Given the description of an element on the screen output the (x, y) to click on. 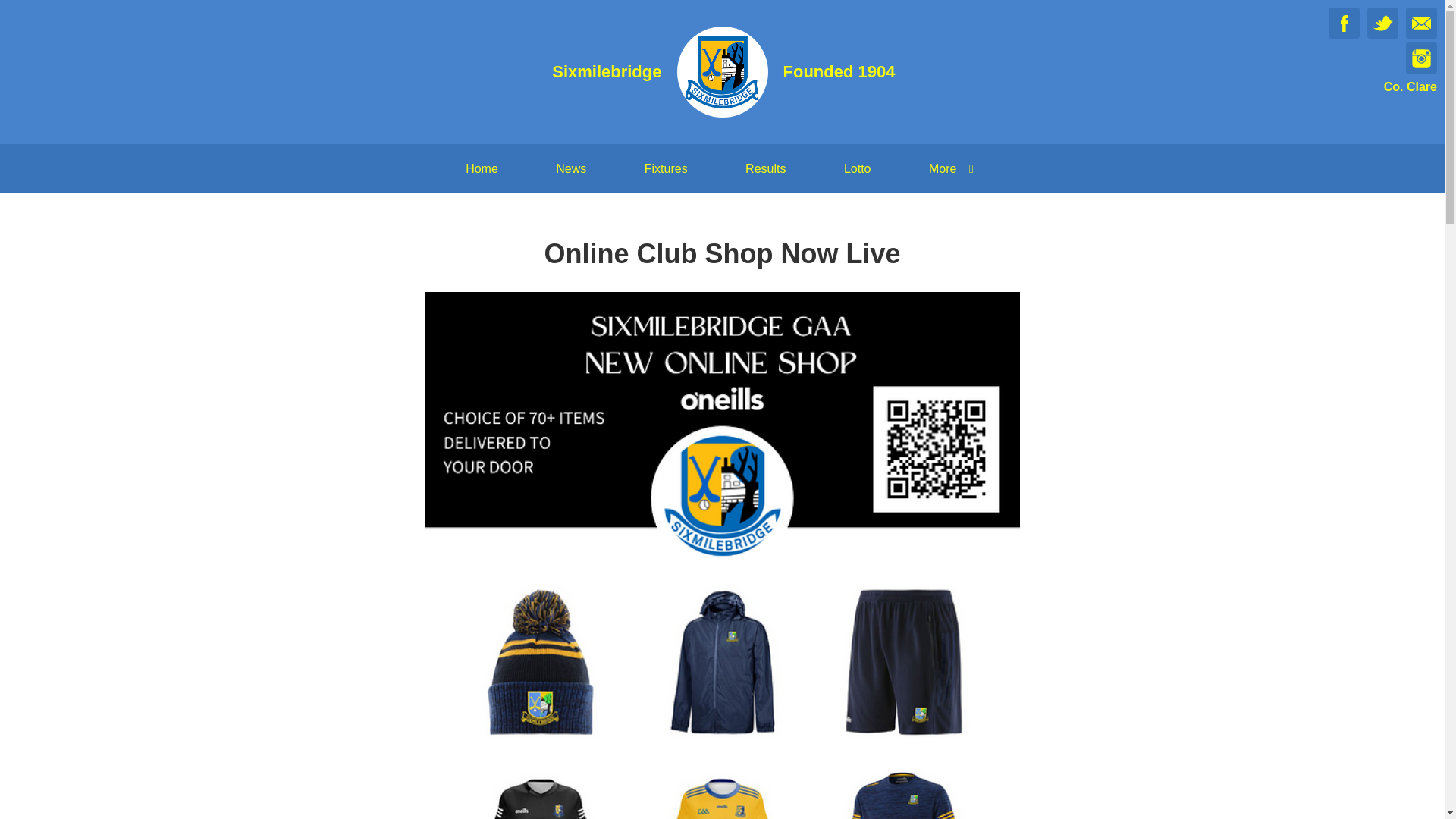
Email (1421, 22)
Twitter (1382, 22)
More (953, 168)
Fixtures (665, 168)
Lotto (857, 168)
News (570, 168)
Results (765, 168)
Facebook (1343, 22)
Instagram (1421, 57)
Home (481, 168)
